Given the description of an element on the screen output the (x, y) to click on. 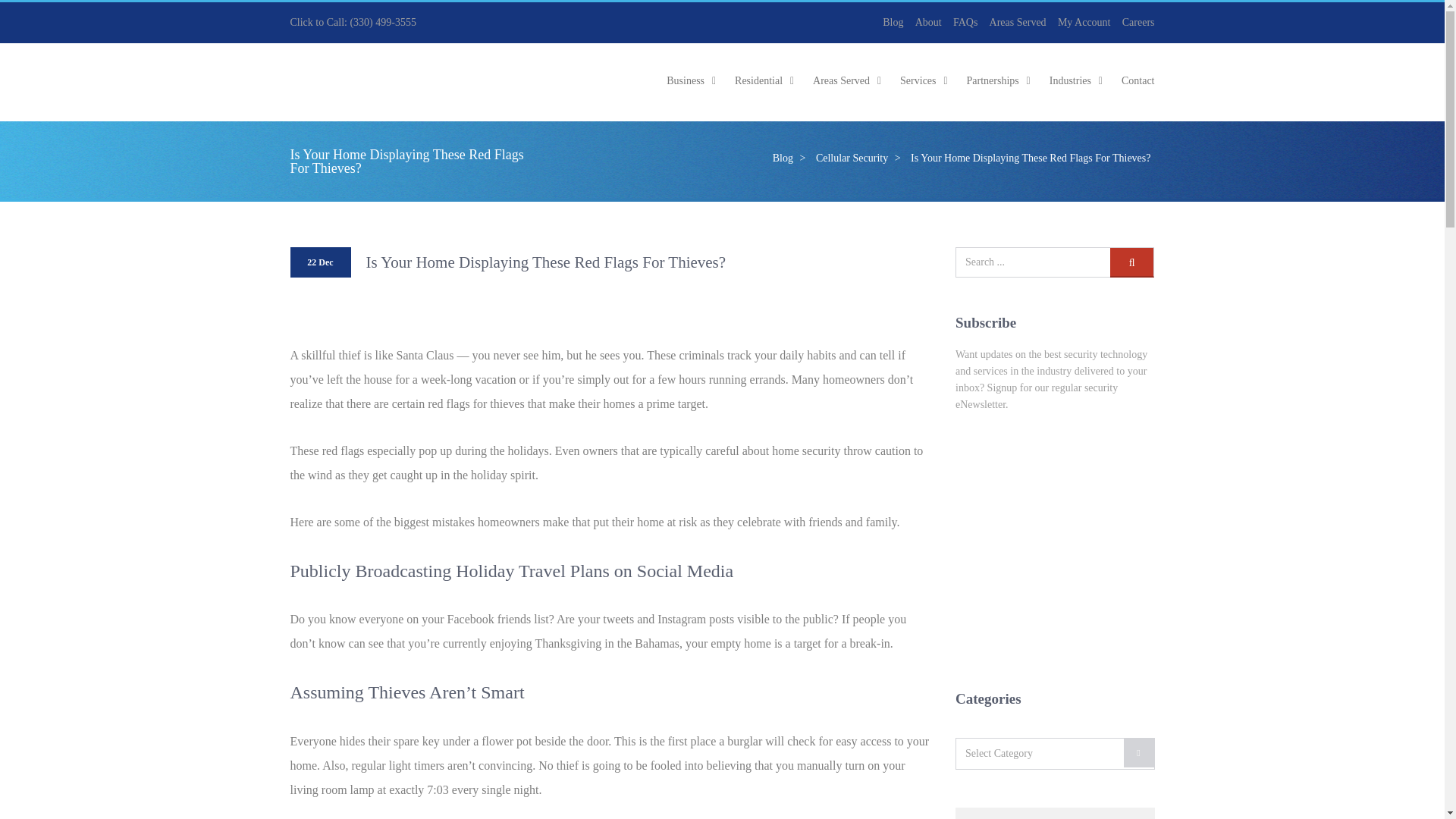
Select Category (1054, 753)
Go to Blog. (780, 157)
About (928, 21)
Form 0 (1054, 549)
Blog (892, 21)
Areas Served (1018, 21)
Go to the Cellular Security category archives. (850, 157)
My Account (1084, 21)
FAQs (964, 21)
Careers (1138, 21)
